Given the description of an element on the screen output the (x, y) to click on. 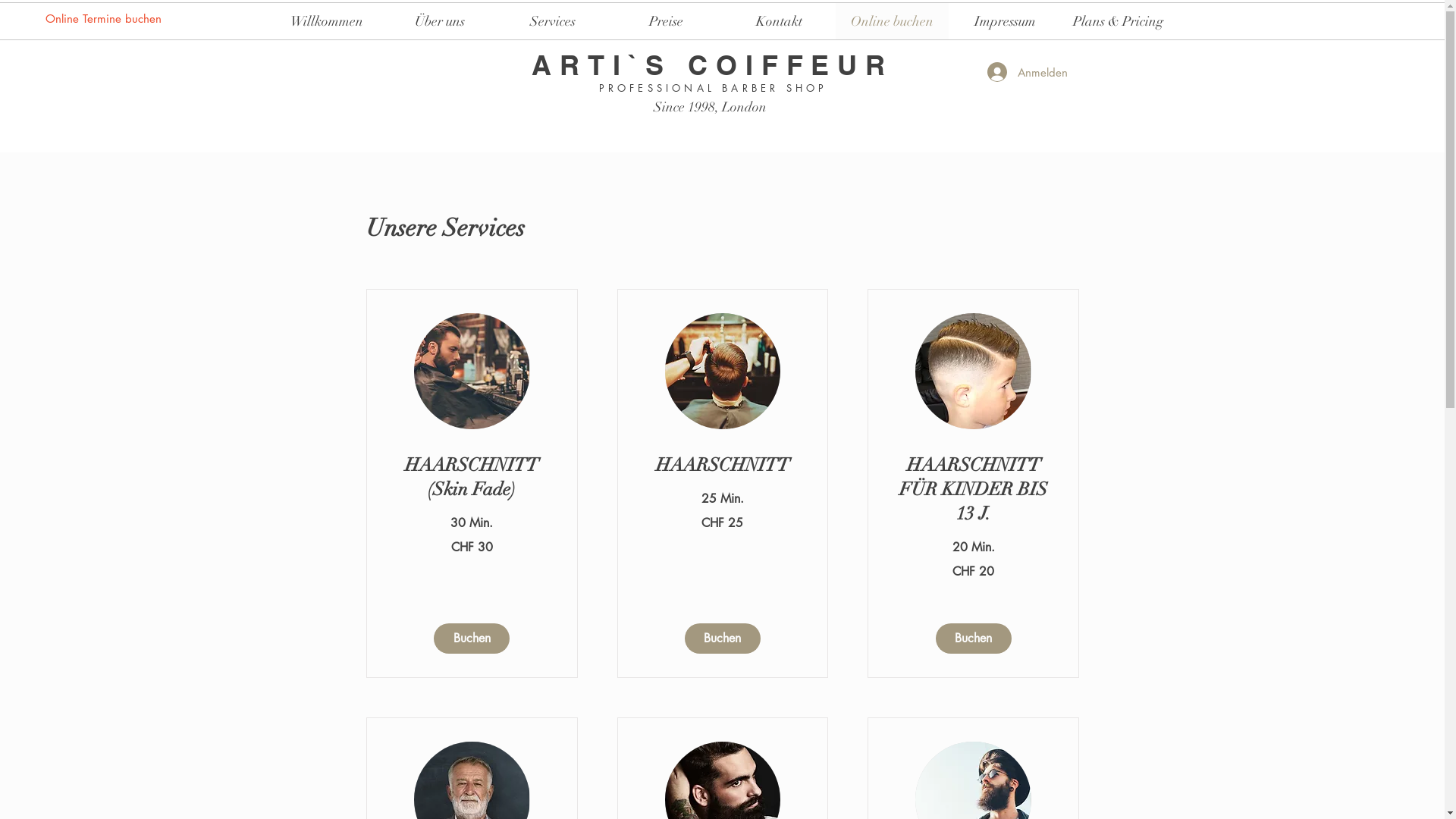
Services Element type: text (551, 21)
Plans & Pricing Element type: text (1117, 21)
Willkommen Element type: text (325, 21)
Impressum Element type: text (1003, 21)
Kontakt Element type: text (777, 21)
 COIFFEUR Element type: text (781, 64)
Online buchen Element type: text (891, 21)
Preise Element type: text (665, 21)
Buchen Element type: text (972, 638)
HAARSCHNITT Element type: text (721, 465)
Online Termine buchen Element type: text (103, 18)
 ARTI`S Element type: text (594, 64)
Anmelden Element type: text (1027, 71)
HAARSCHNITT (Skin Fade) Element type: text (470, 477)
Buchen Element type: text (471, 638)
Buchen Element type: text (721, 638)
